Given the description of an element on the screen output the (x, y) to click on. 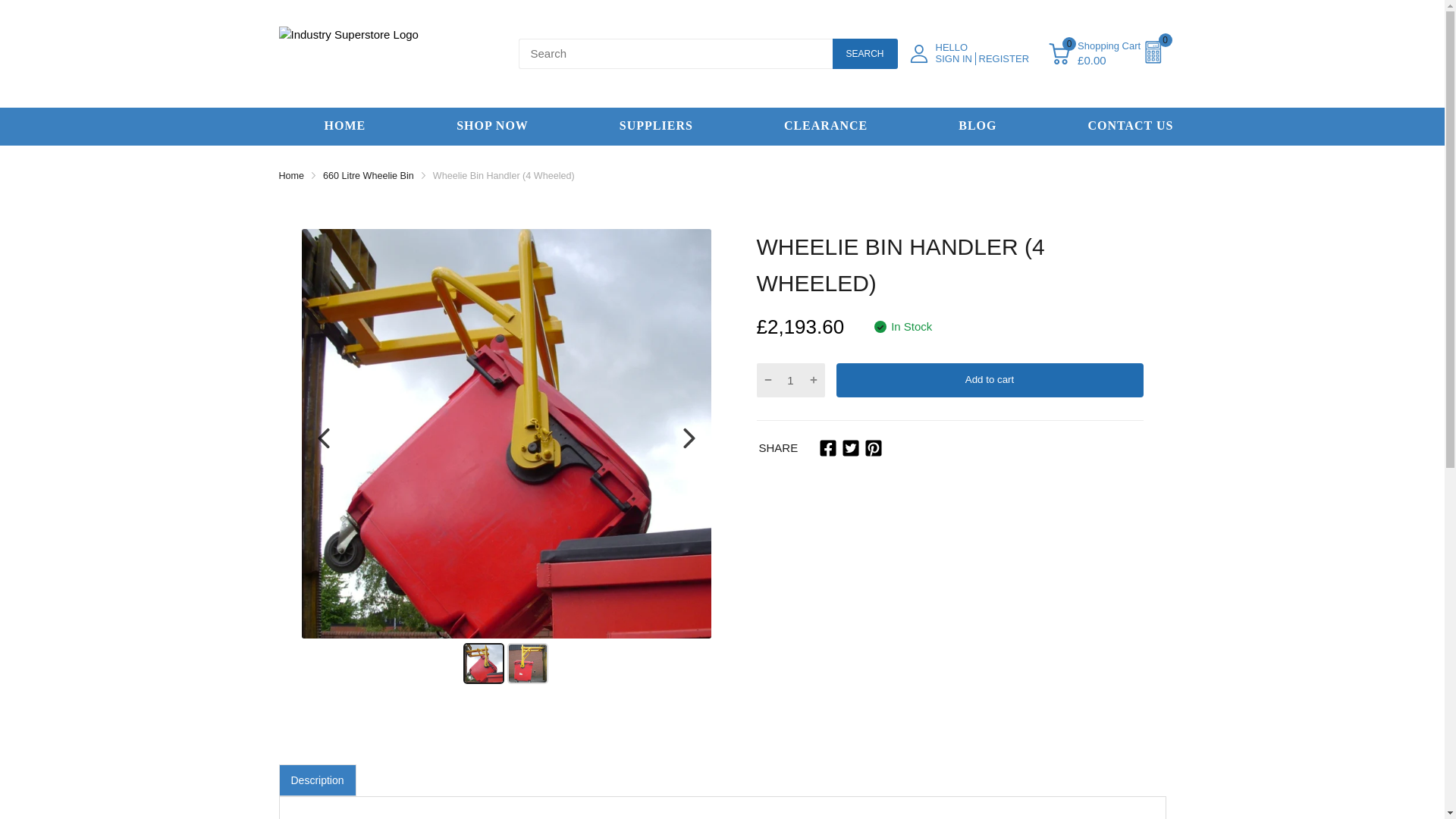
SIGN IN (955, 58)
1 (790, 379)
BLOG (977, 126)
CLEARANCE (825, 126)
CLEARANCE (825, 126)
SHOP NOW (491, 126)
0 (1059, 53)
Facebook (827, 447)
Pinterest (873, 447)
HOME (345, 126)
CONTACT US (1130, 126)
SUPPLIERS (655, 126)
CONTACT US (1130, 126)
Twitter (850, 447)
HOME (345, 126)
